Given the description of an element on the screen output the (x, y) to click on. 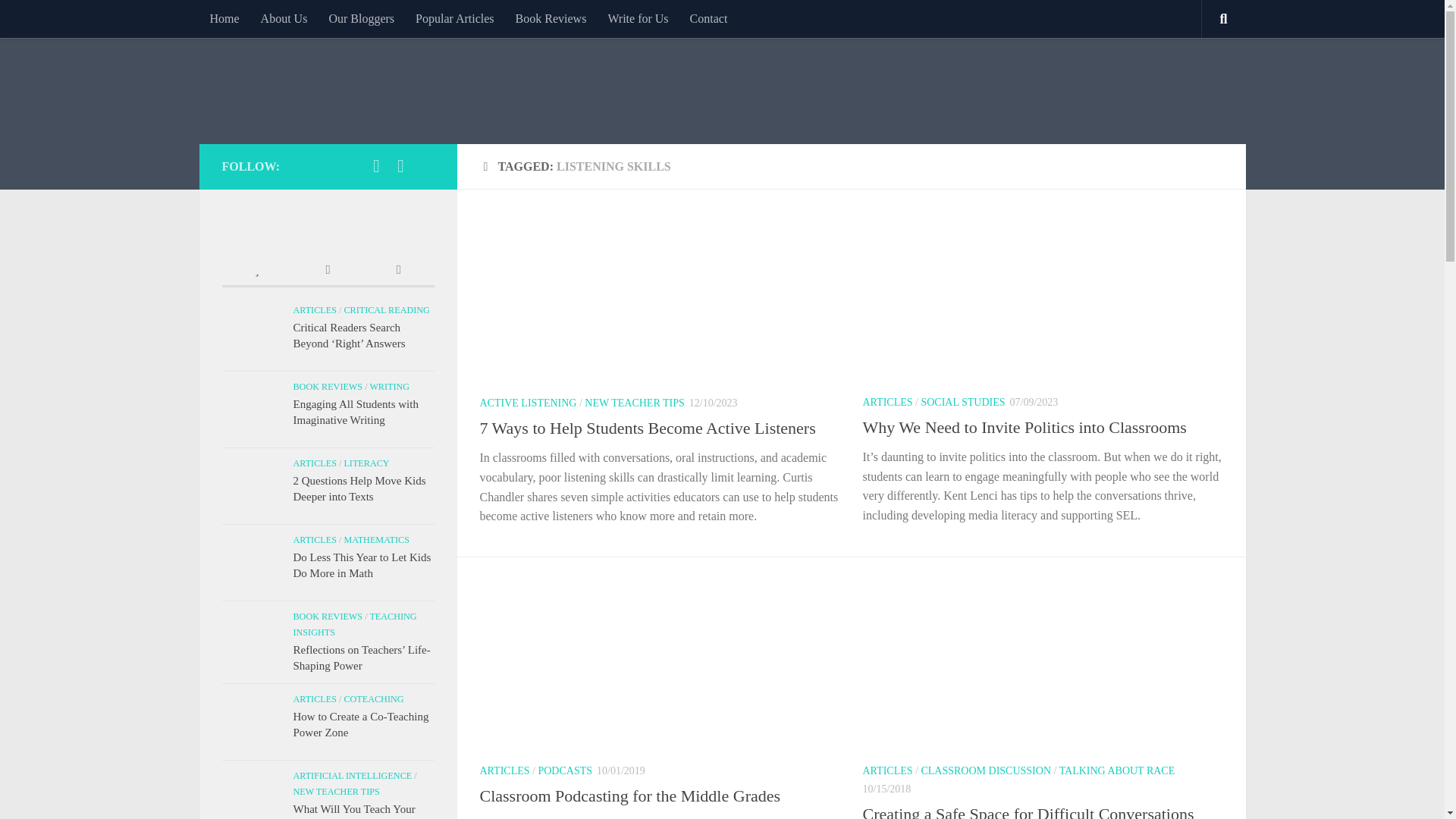
Classroom Podcasting for the Middle Grades (629, 795)
Popular Articles (454, 18)
PODCASTS (564, 770)
Home (223, 18)
CLASSROOM DISCUSSION (985, 770)
NEW TEACHER TIPS (634, 402)
Contact (708, 18)
SOCIAL STUDIES (962, 401)
Our Bloggers (360, 18)
Write for Us (637, 18)
